Given the description of an element on the screen output the (x, y) to click on. 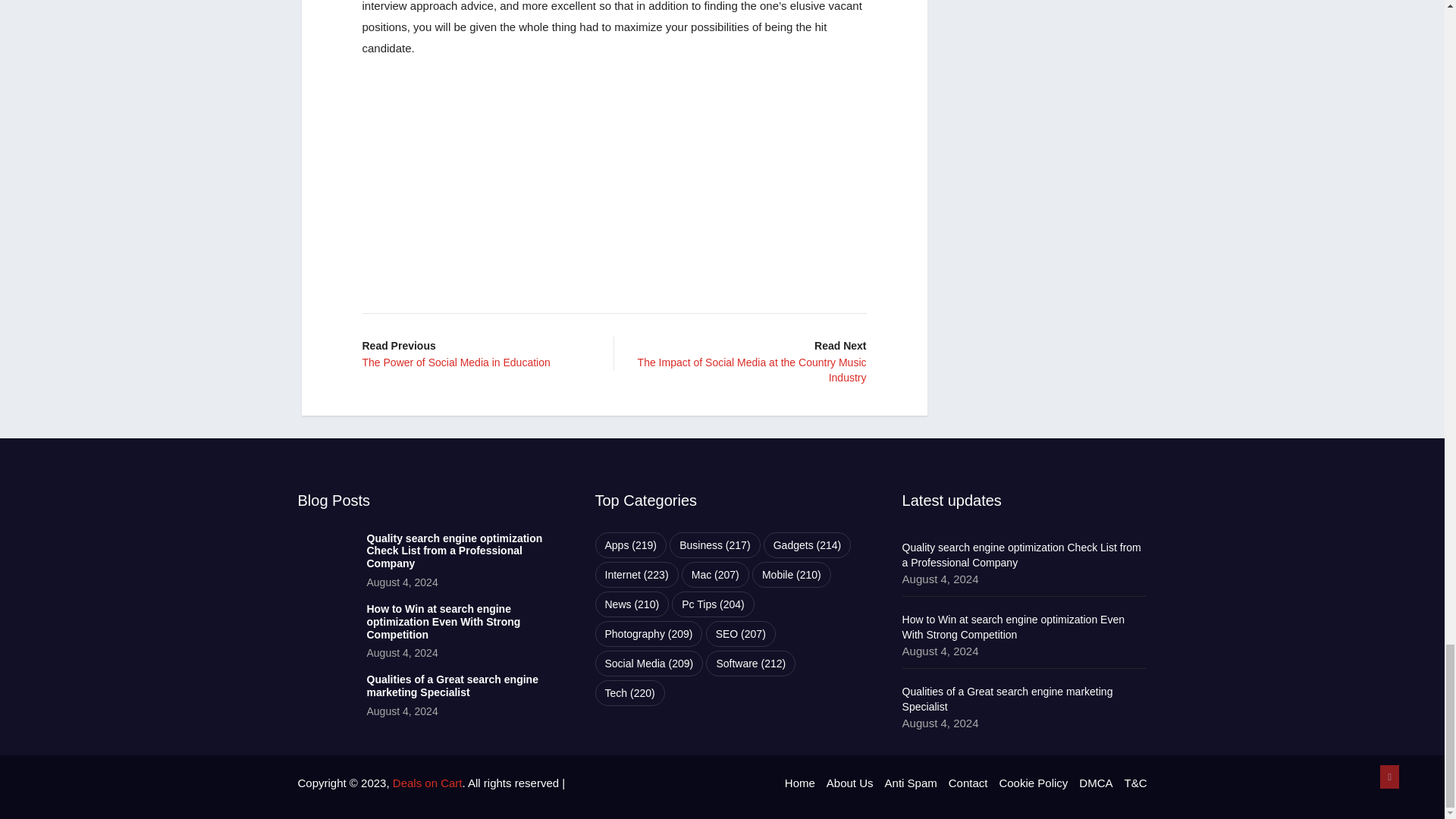
Qualities of a Great search engine marketing Specialist (325, 697)
Qualities of a Great search engine marketing Specialist (452, 685)
